Given the description of an element on the screen output the (x, y) to click on. 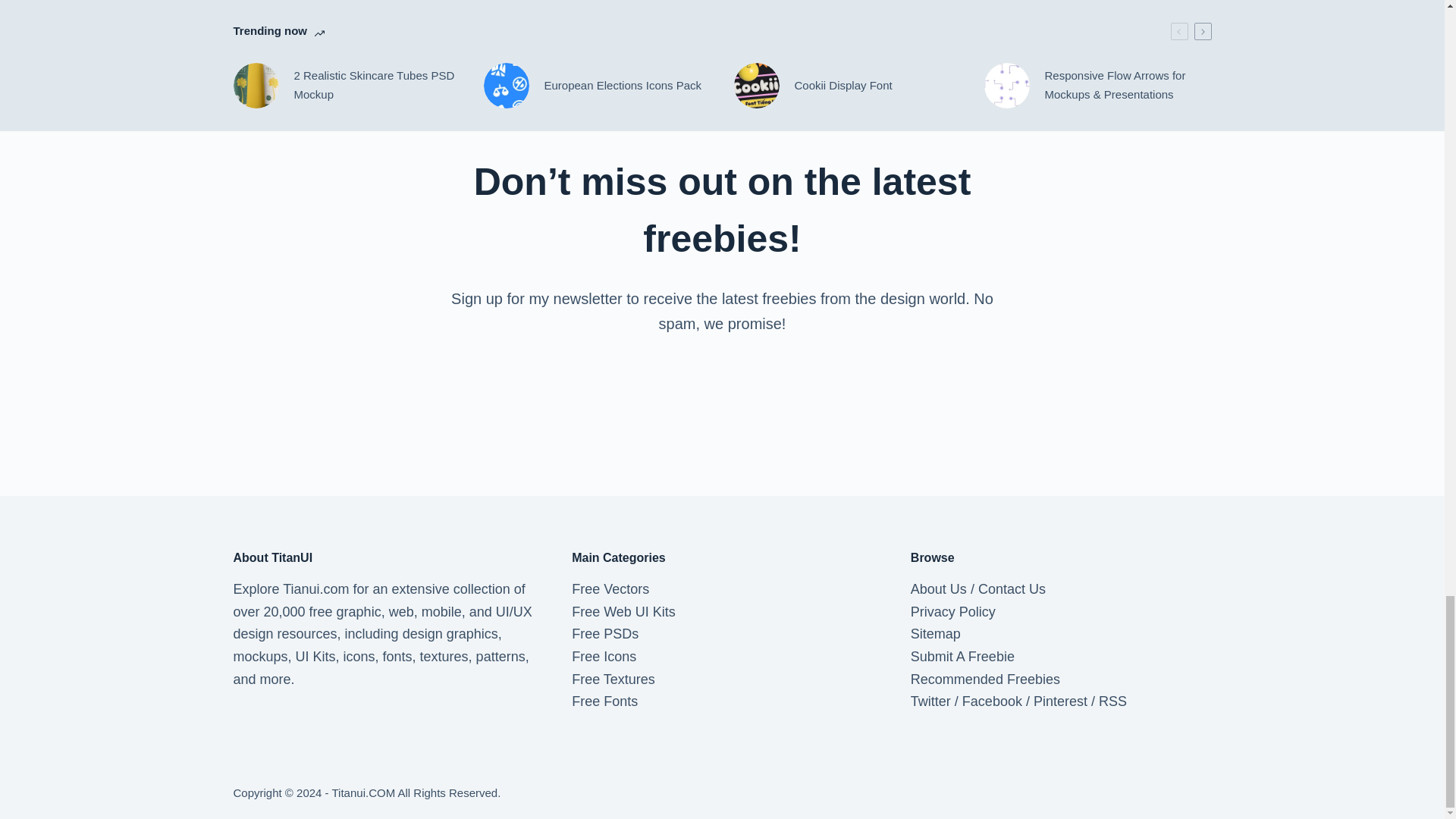
Recommended Graphic Design Resources (985, 679)
